Given the description of an element on the screen output the (x, y) to click on. 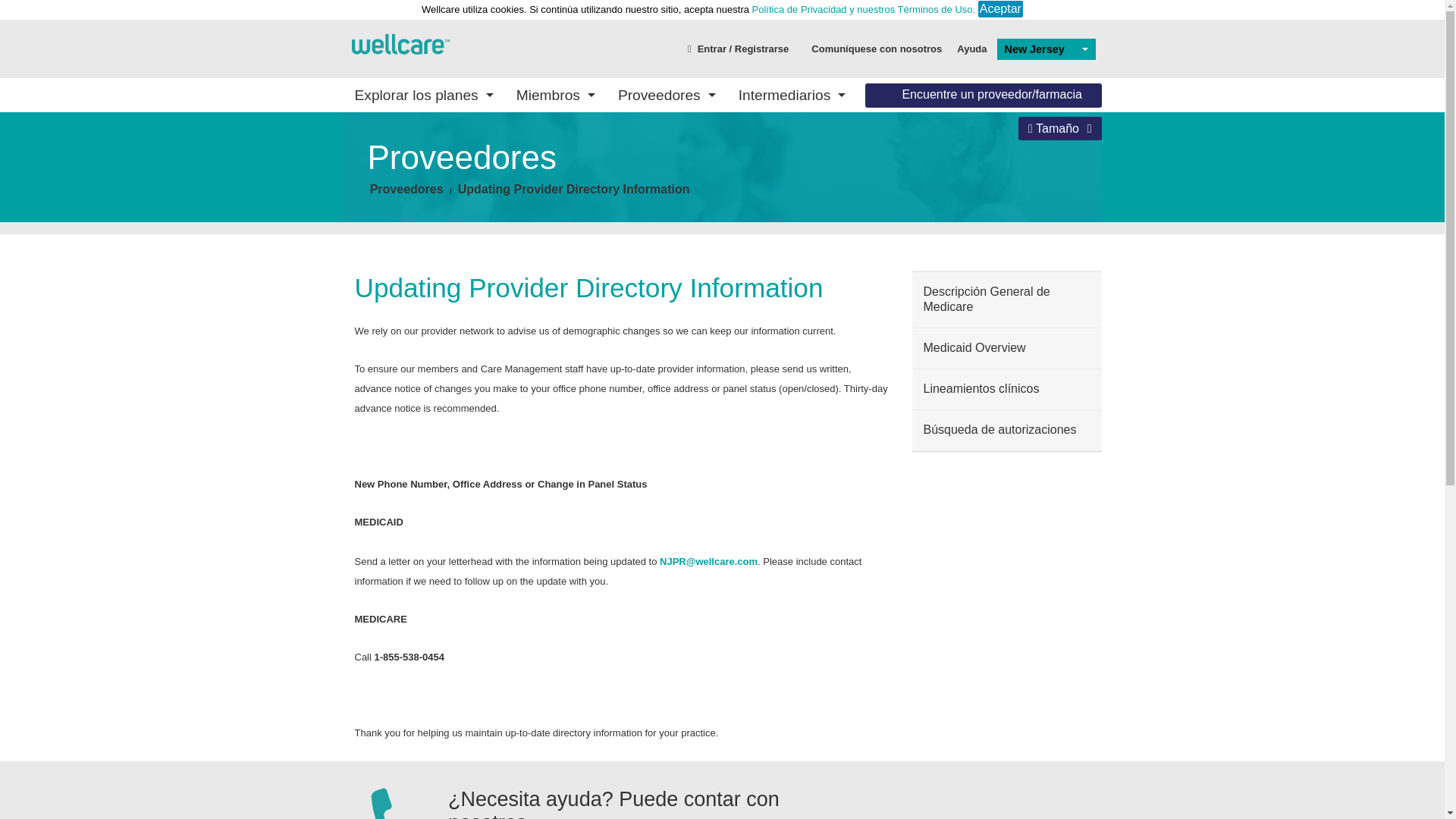
NJ FamilyCare (456, 173)
Planes HMO (456, 233)
ayuda (971, 47)
registrarse (738, 47)
Planes C-SNP (456, 277)
Miembros (556, 94)
Explorar los planes (422, 94)
estado (399, 42)
Aceptar (1000, 8)
bread (574, 188)
Ayuda (971, 47)
MLTSS (456, 194)
Encontrar mi plan (633, 173)
Planes D-SNP (456, 255)
Elegibilidad Doble (988, 233)
